Given the description of an element on the screen output the (x, y) to click on. 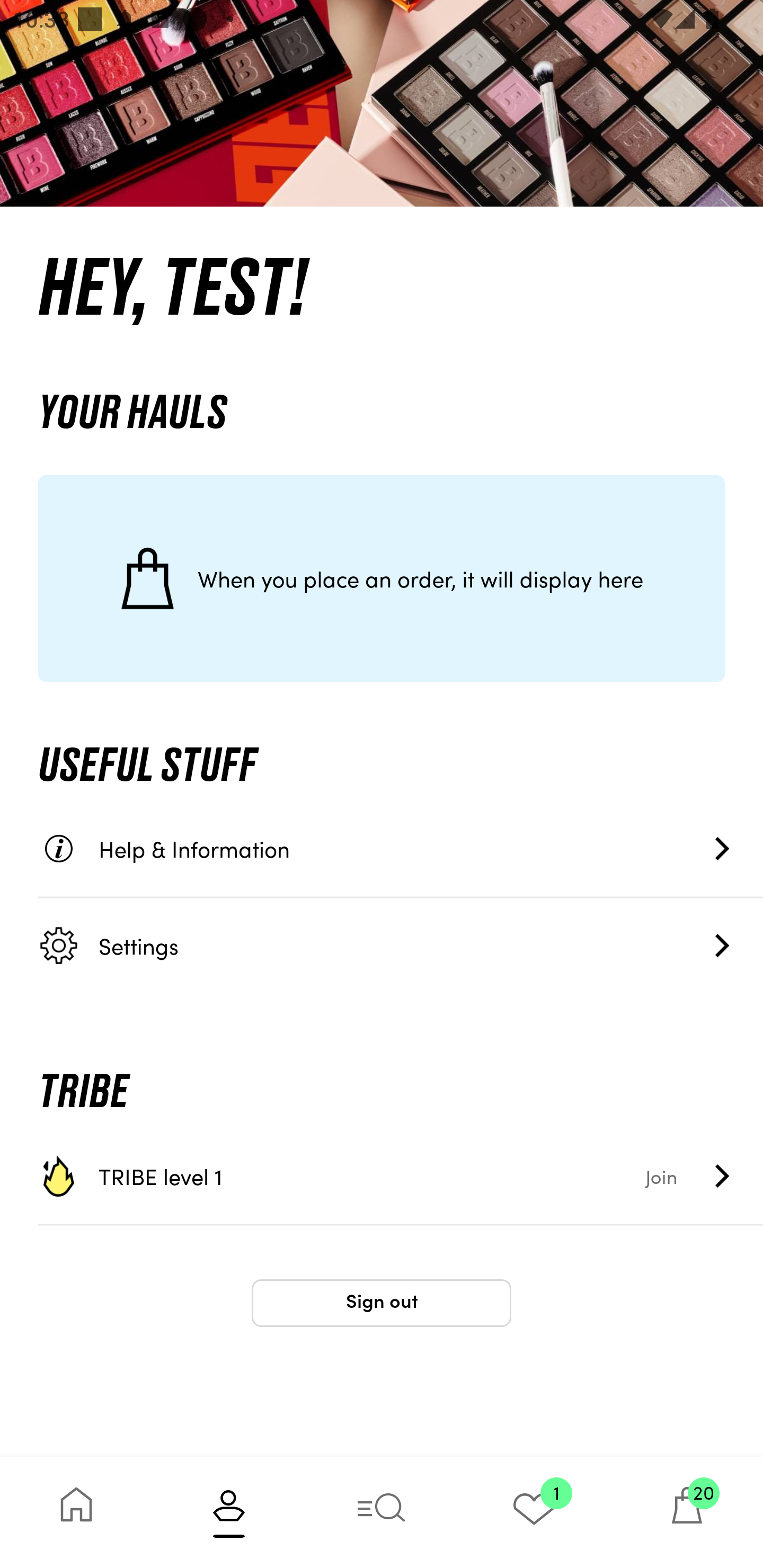
Help & Information (400, 848)
Settings (400, 945)
TRIBE level 1 Join (400, 1175)
Sign out (381, 1302)
1 (533, 1512)
20 (686, 1512)
